Given the description of an element on the screen output the (x, y) to click on. 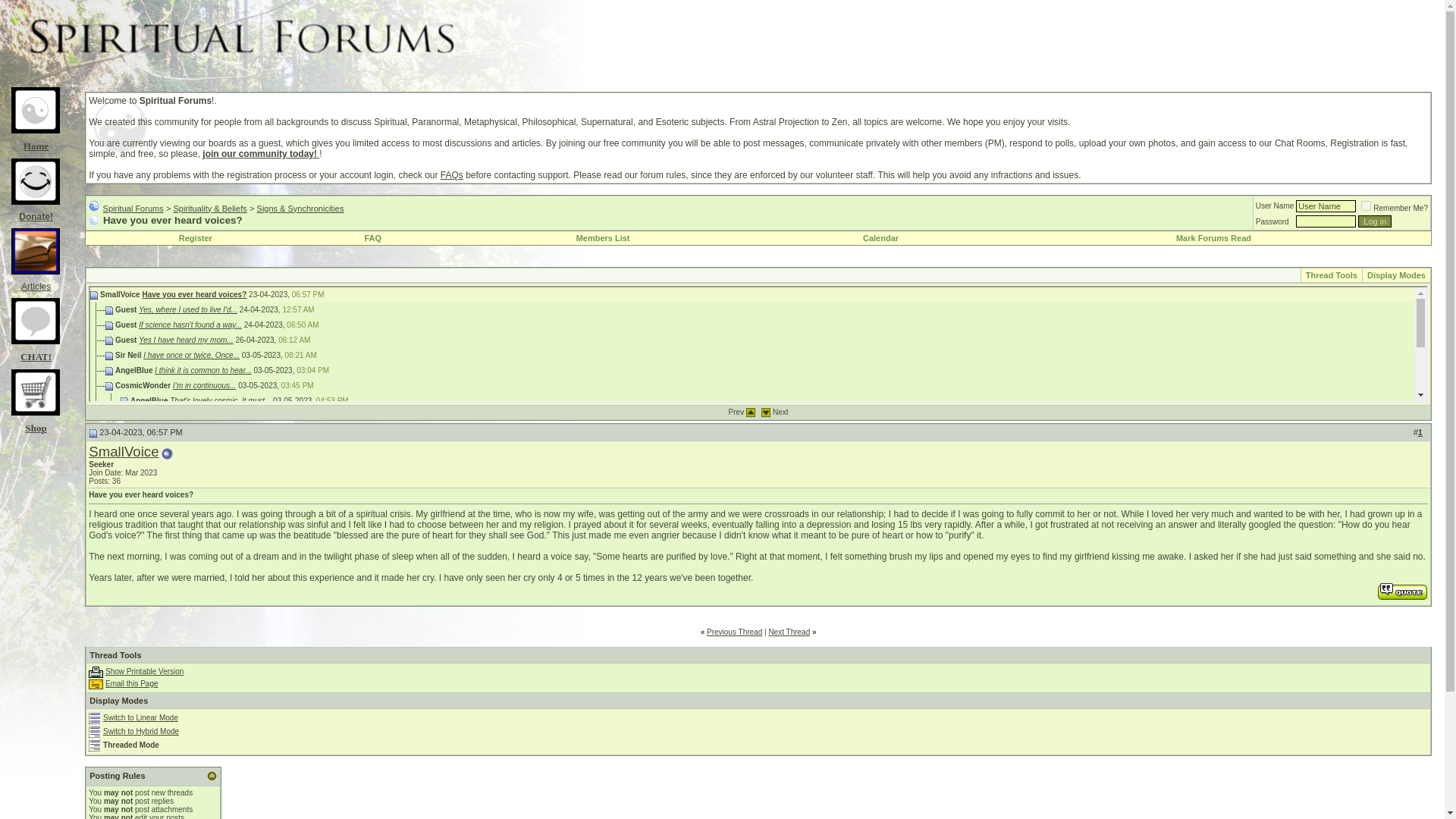
Hybrid Mode (94, 731)
CHAT! (35, 351)
Display Modes (1396, 275)
Calendar (880, 237)
Articles (35, 281)
That's lovely cosmic. It must... (220, 400)
User Name (1325, 205)
Have you ever heard voices? (193, 294)
Spiritual Forums (133, 207)
